Given the description of an element on the screen output the (x, y) to click on. 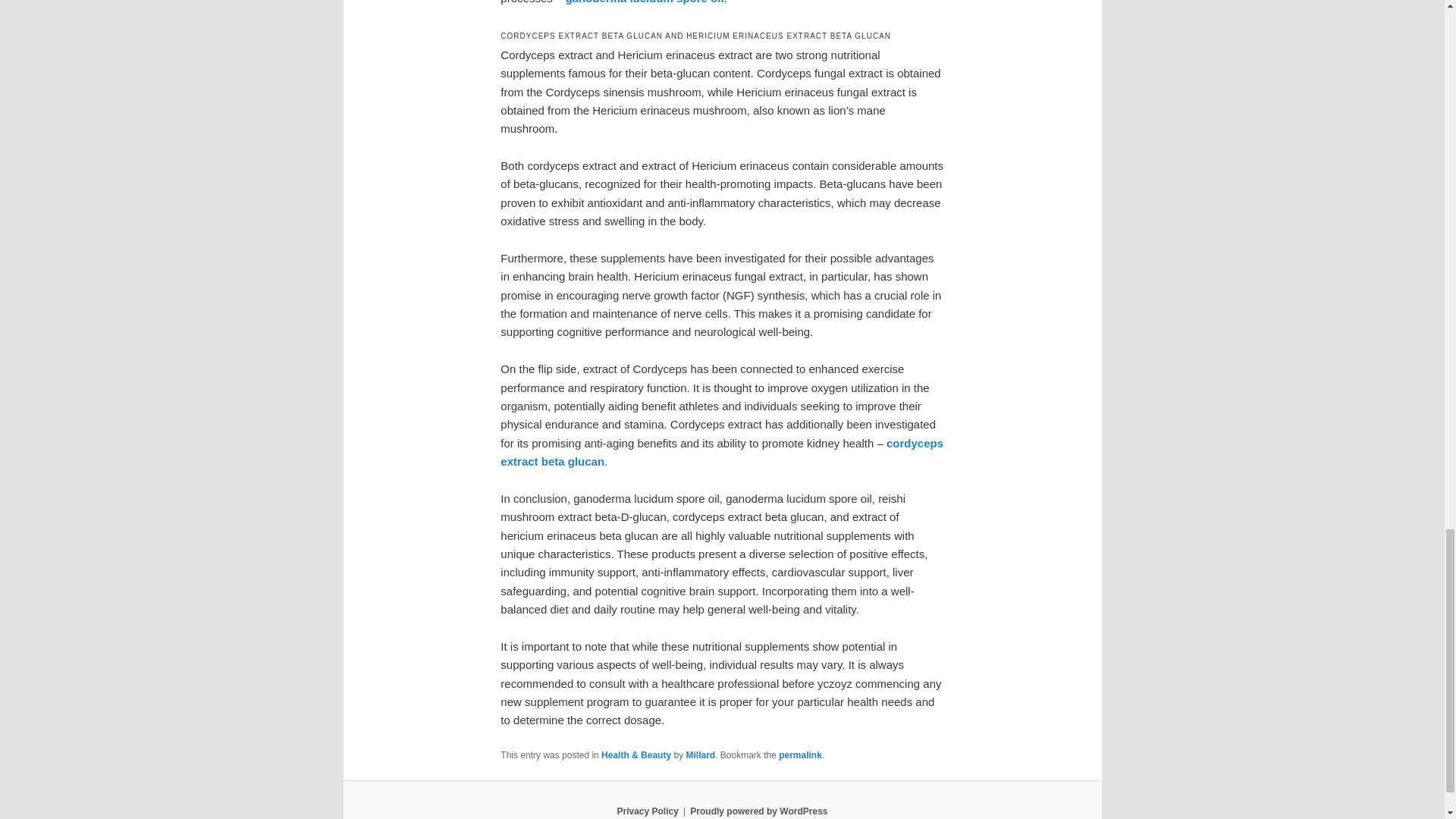
ganoderma lucidum spore oil (643, 2)
cordyceps extract beta glucan (721, 451)
Millard (699, 755)
Proudly powered by WordPress (758, 810)
Semantic Personal Publishing Platform (758, 810)
permalink (800, 755)
Privacy Policy (646, 810)
